Given the description of an element on the screen output the (x, y) to click on. 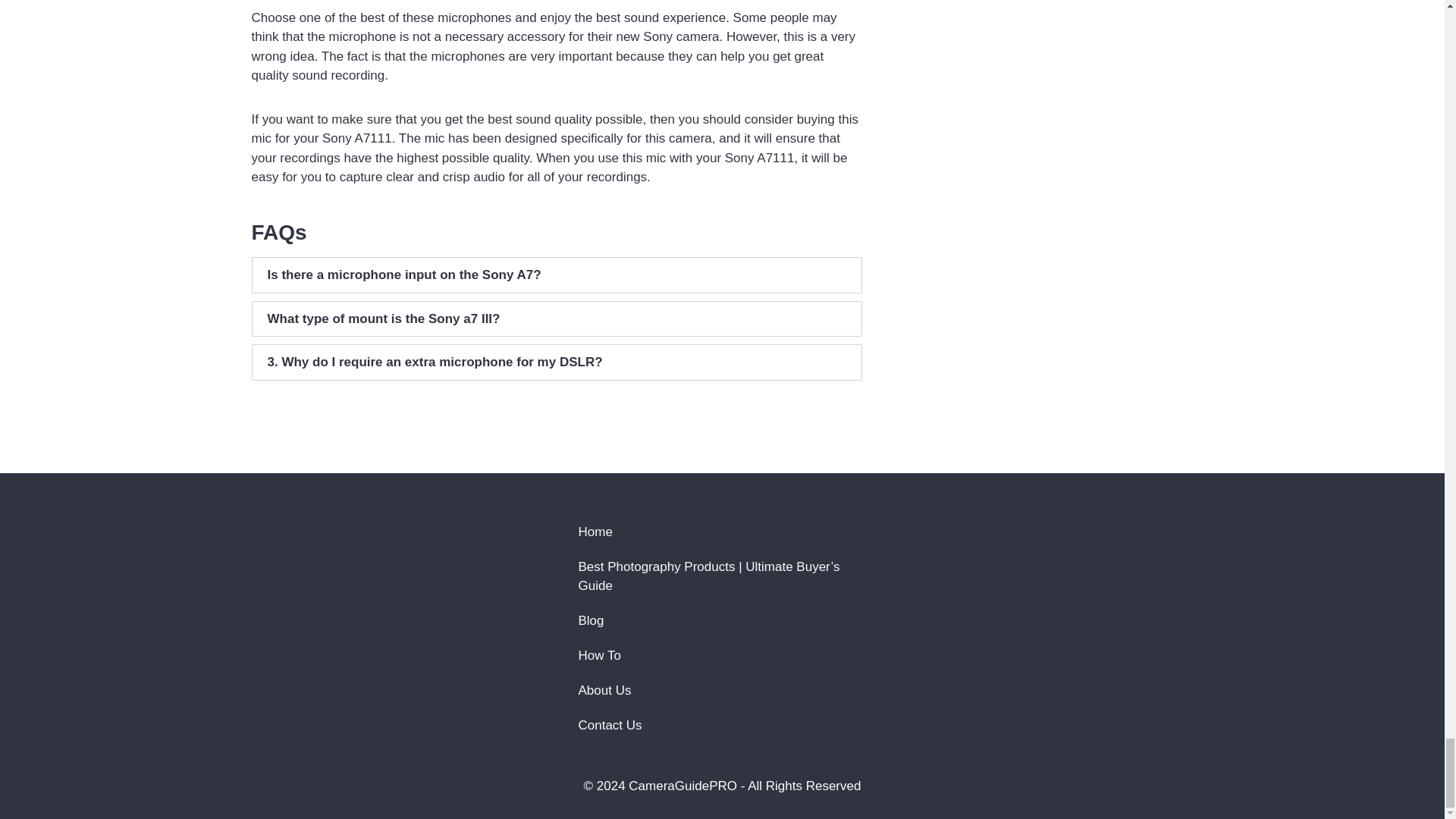
How To (722, 655)
Home (722, 532)
About Us (722, 690)
Contact Us (722, 724)
Blog (722, 620)
